Given the description of an element on the screen output the (x, y) to click on. 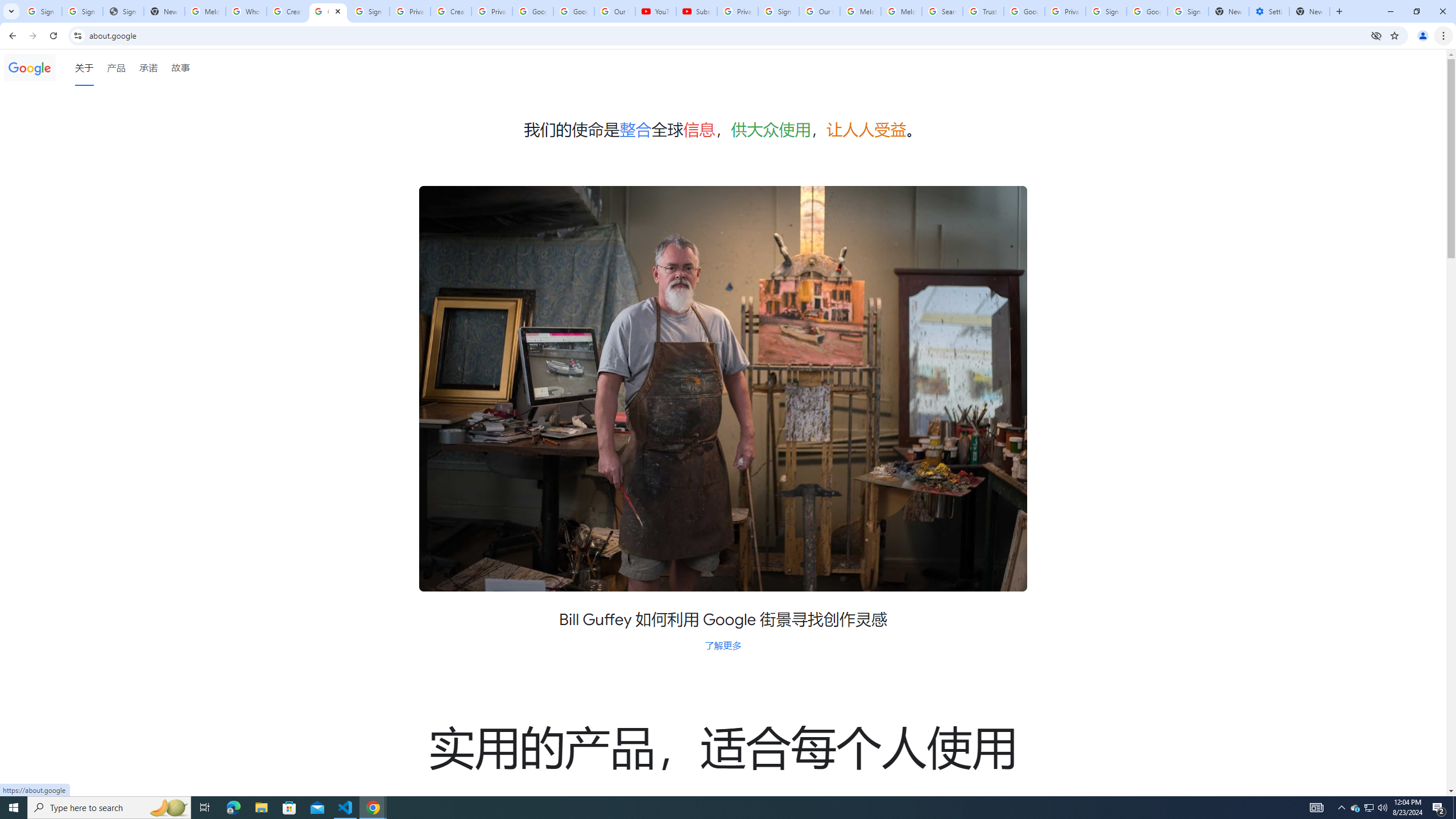
Trusted Information and Content - Google Safety Center (983, 11)
Sign in - Google Accounts (1105, 11)
Sign in - Google Accounts (368, 11)
YouTube (655, 11)
